Given the description of an element on the screen output the (x, y) to click on. 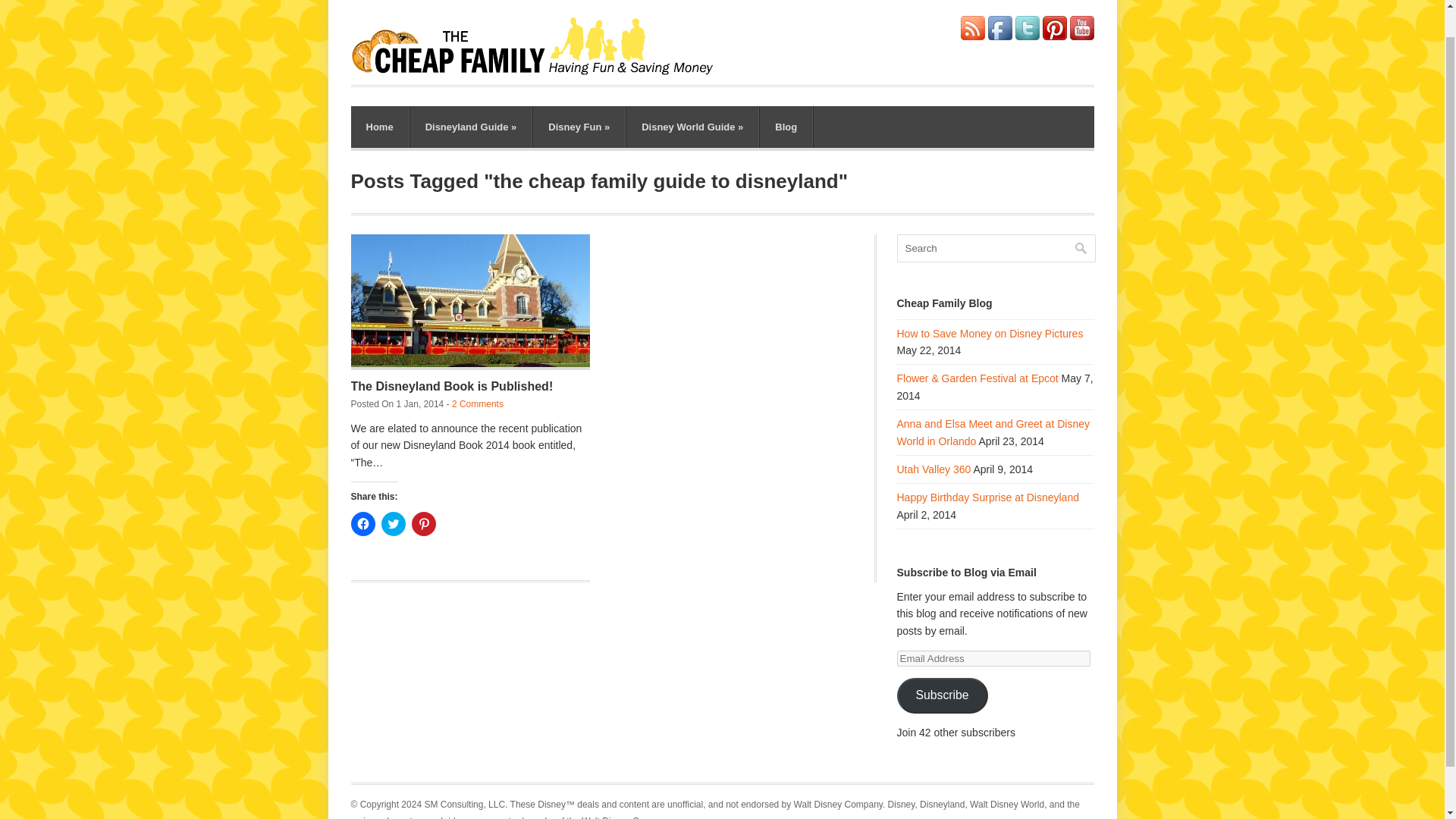
Anna and Elsa Meet and Greet at Disney World in Orlando (992, 431)
Home (378, 127)
How to Save Money on Disney Pictures (989, 333)
The Disneyland Book is Published! (451, 386)
The Disneyland Book is Published! (451, 386)
Search (995, 248)
2 Comments (477, 403)
The Cheap Family (539, 70)
Utah Valley 360 (933, 469)
Click to share on Facebook (362, 523)
Click to share on Pinterest (422, 523)
Click to share on Twitter (392, 523)
The Disneyland Book is Published! (469, 302)
Blog (786, 127)
